Given the description of an element on the screen output the (x, y) to click on. 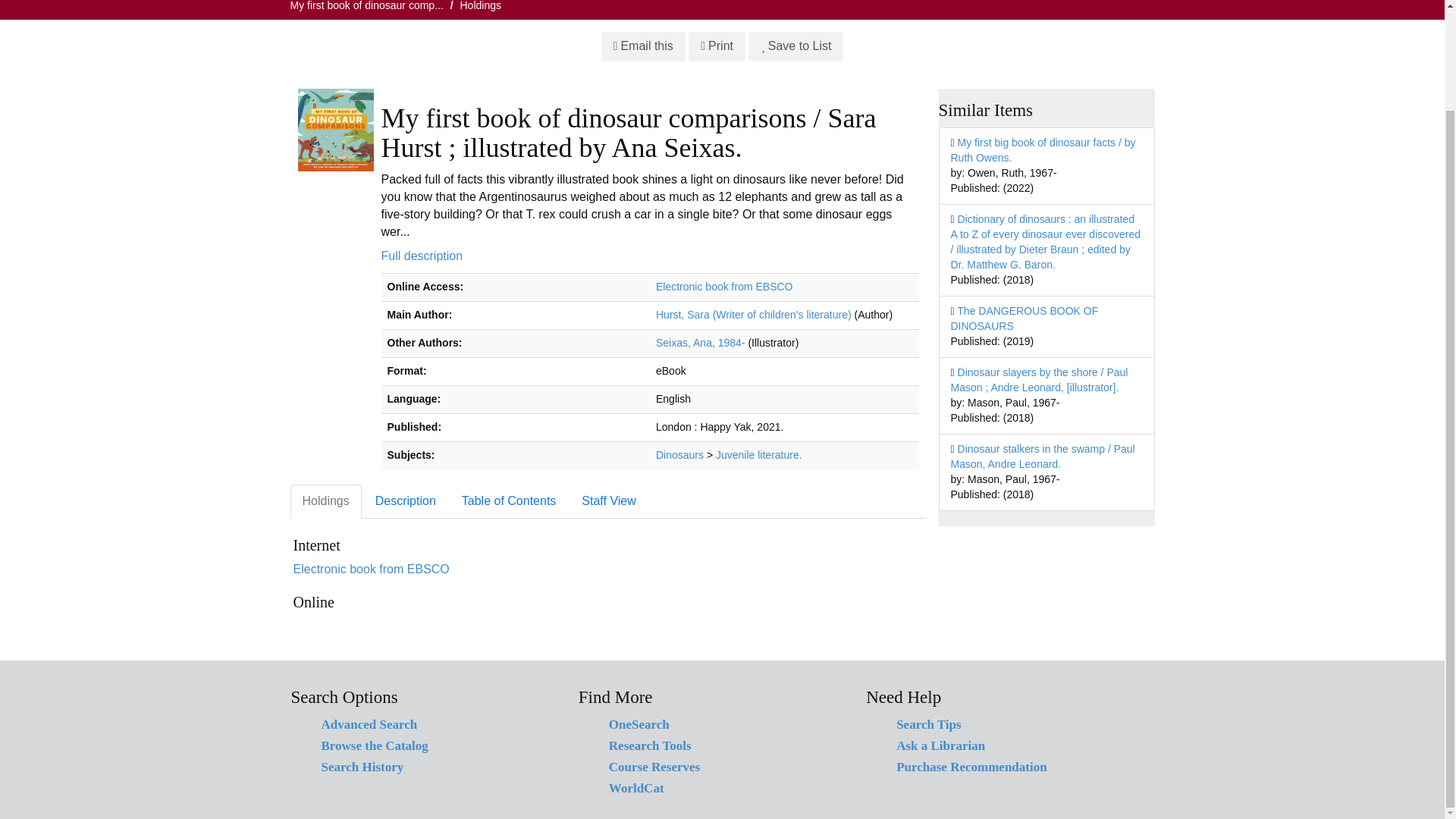
Dinosaurs (679, 454)
Dinosaurs Juvenile literature. (759, 454)
